Given the description of an element on the screen output the (x, y) to click on. 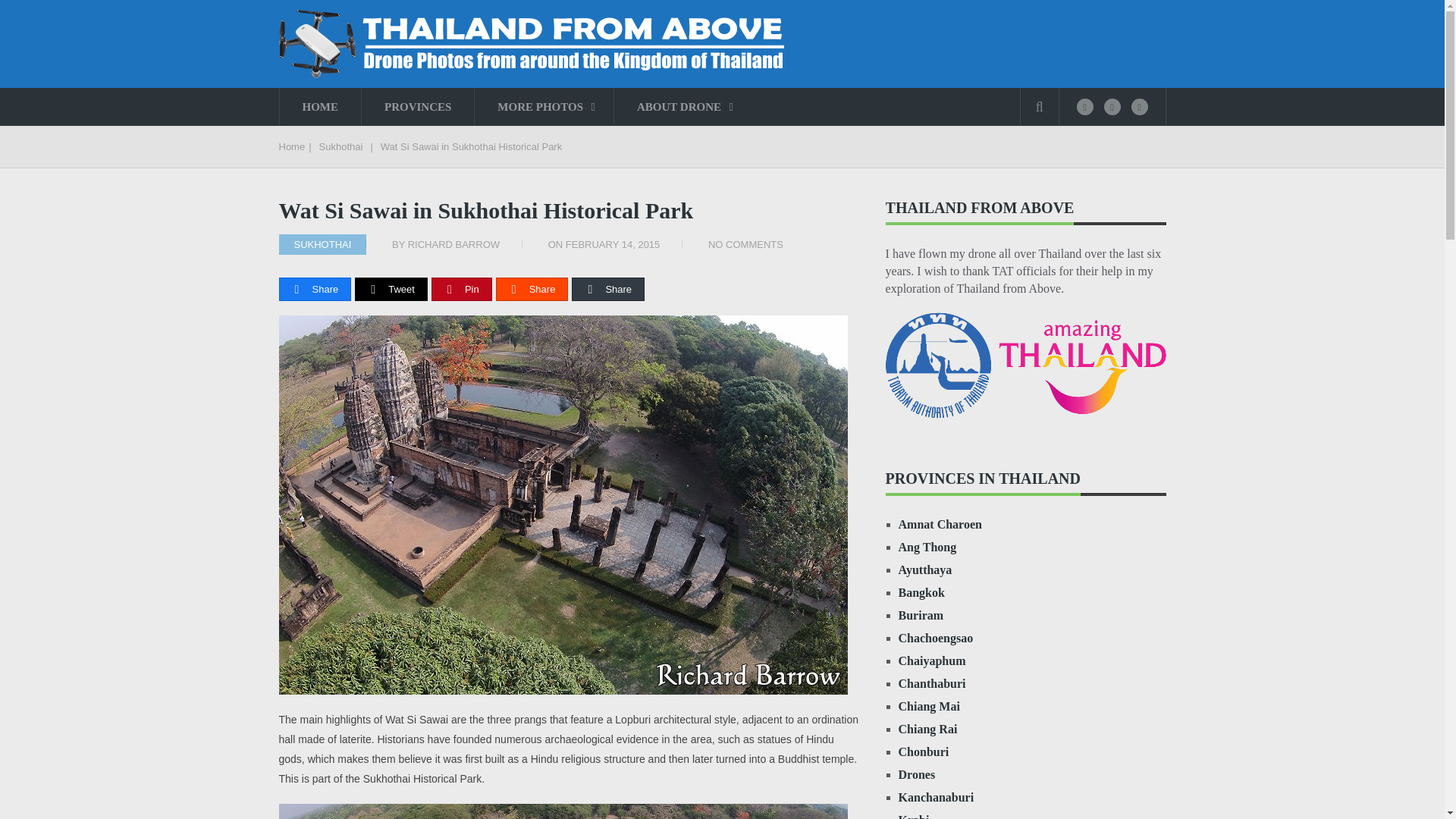
Sukhothai (340, 146)
MORE PHOTOS (543, 106)
SUKHOTHAI (323, 244)
Tweet (390, 289)
ABOUT DRONE (682, 106)
Share (314, 289)
Share (531, 289)
Share (607, 289)
NO COMMENTS (745, 244)
View all posts in Sukhothai (323, 244)
PROVINCES (417, 106)
RICHARD BARROW (453, 244)
Pin (462, 289)
Posts by Richard Barrow (453, 244)
Home (292, 146)
